Given the description of an element on the screen output the (x, y) to click on. 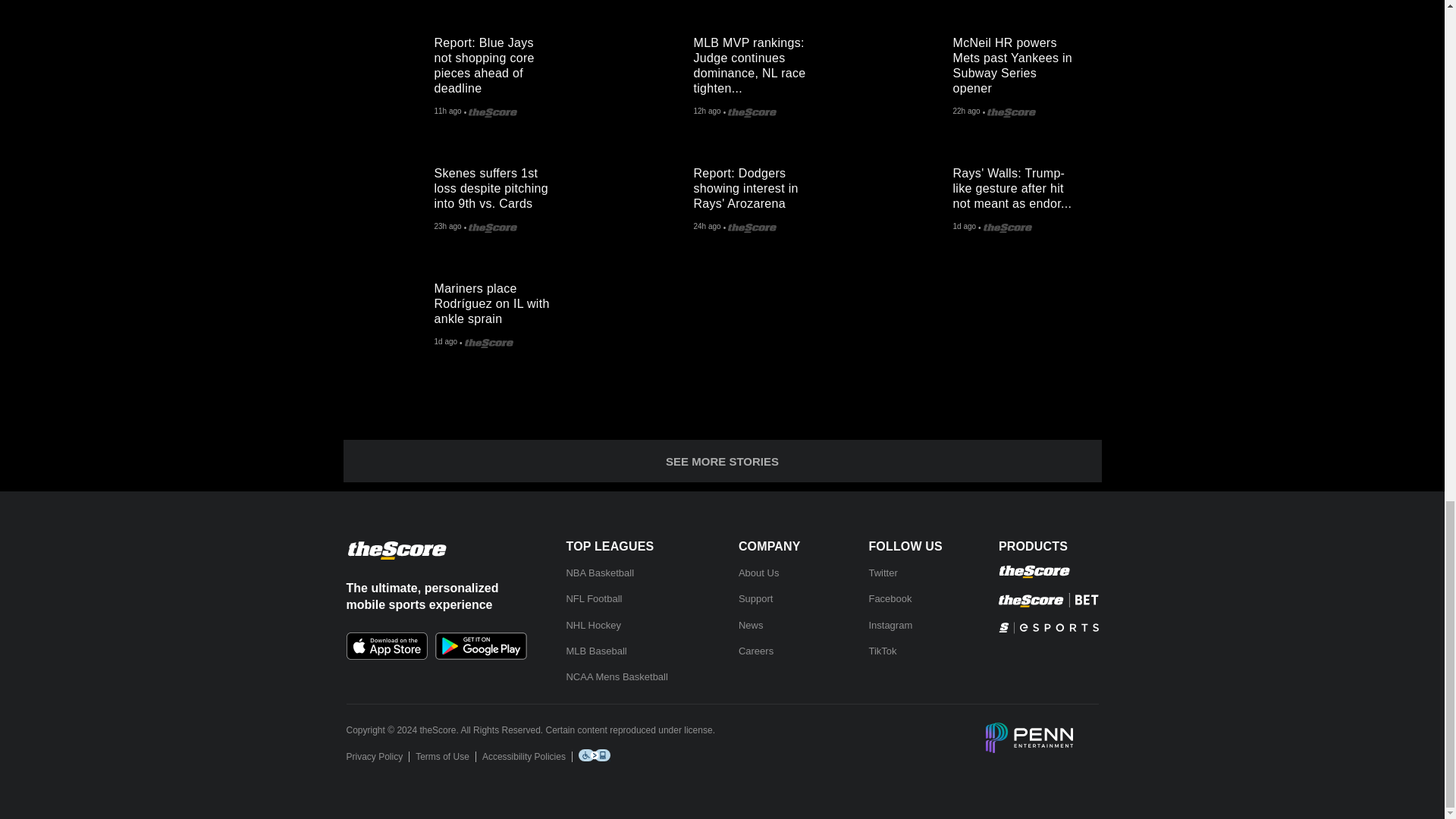
2024-07-24T02:57:02.000Z (965, 112)
2024-07-24T13:36:44.000Z (447, 112)
Skenes suffers 1st loss despite pitching into 9th vs. Cards  (388, 200)
2024-07-24T13:01:55.000Z (706, 112)
